Given the description of an element on the screen output the (x, y) to click on. 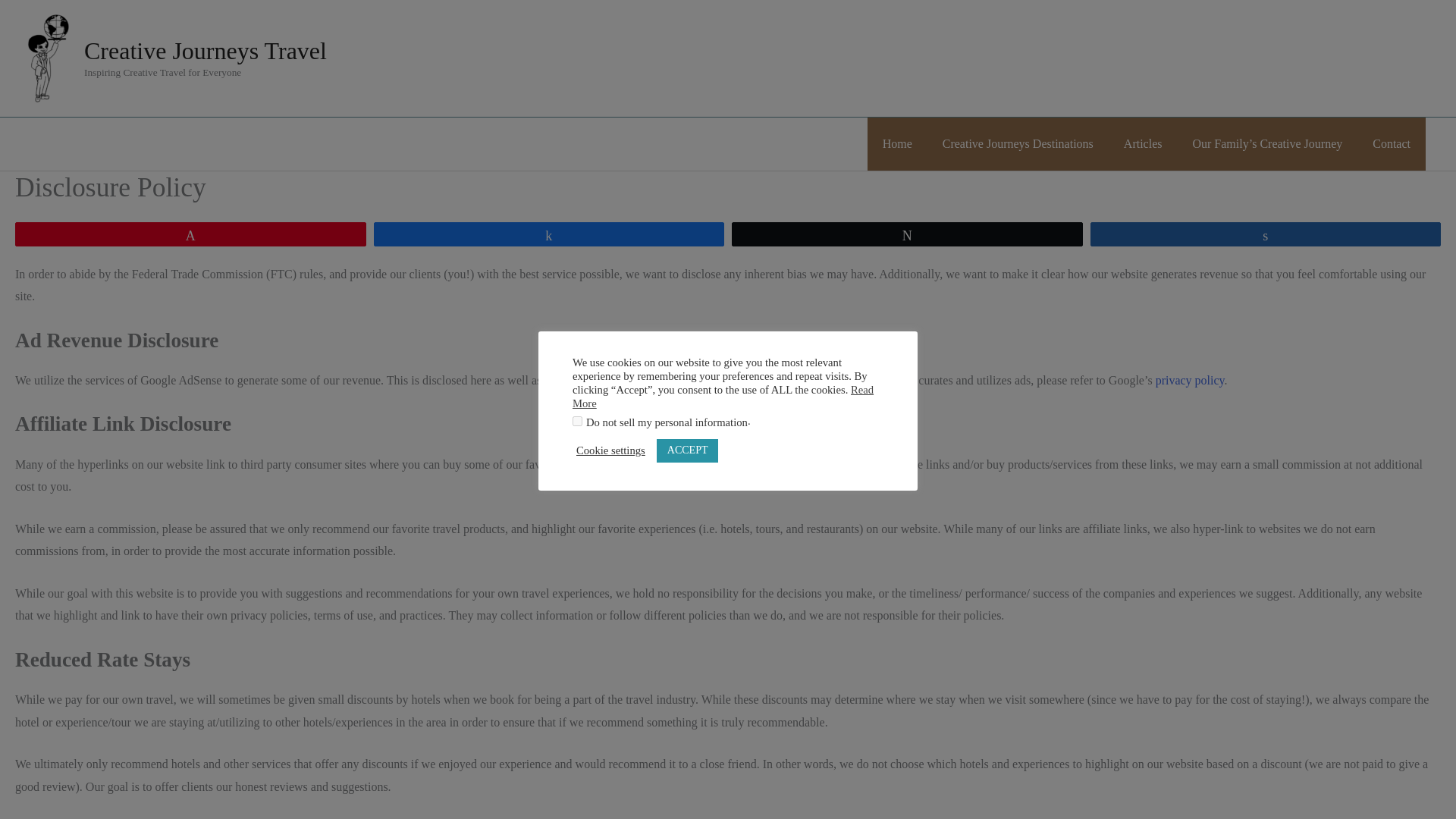
Read More (722, 396)
Articles (1142, 143)
Home (897, 143)
Creative Journeys Travel (205, 50)
Creative Journeys Destinations (1017, 143)
Cookie settings (610, 450)
Contact (1390, 143)
privacy policy (1190, 379)
ACCEPT (687, 450)
on (577, 420)
